Given the description of an element on the screen output the (x, y) to click on. 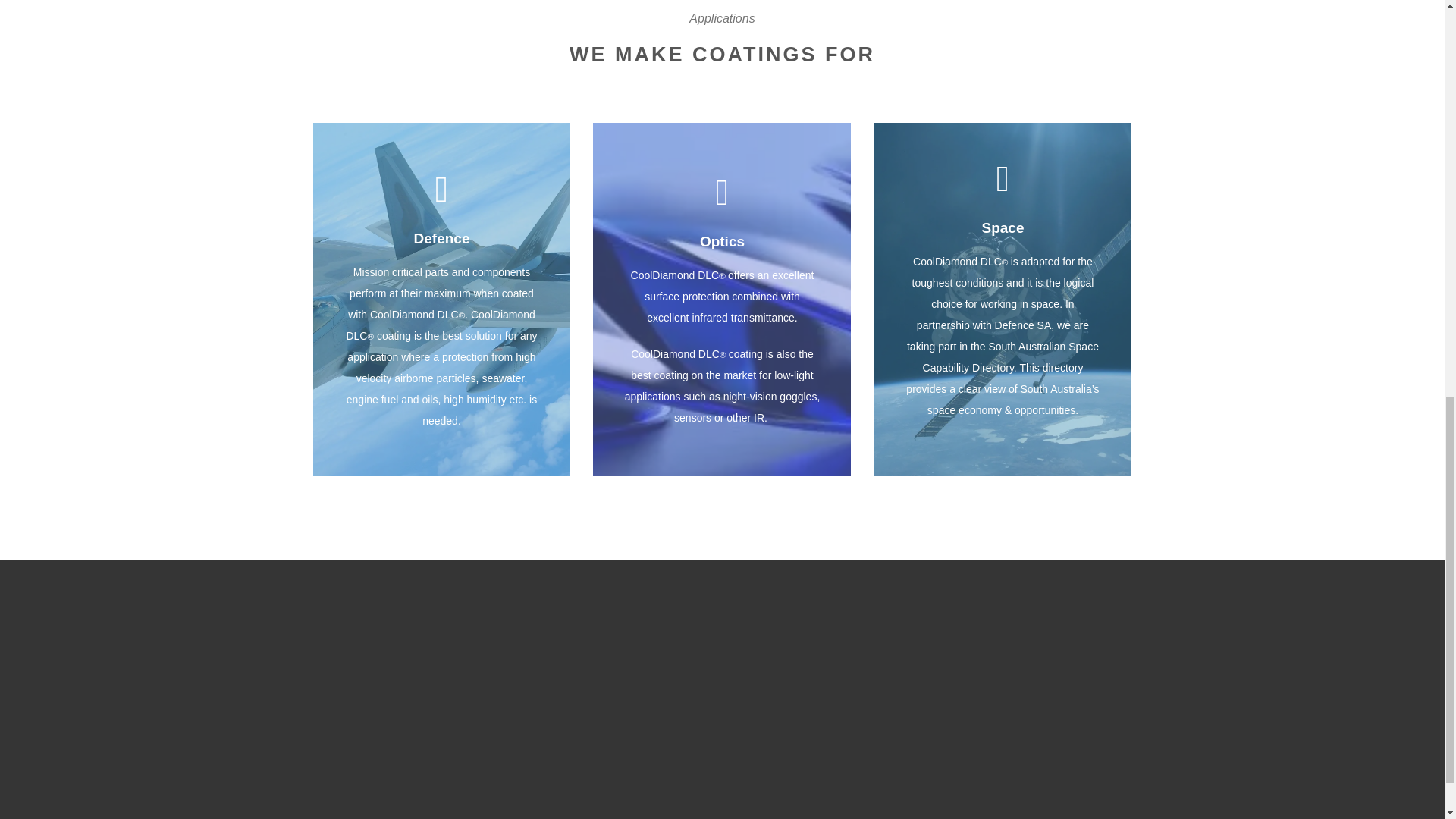
WE MAKE COATINGS FOR (722, 54)
